Given the description of an element on the screen output the (x, y) to click on. 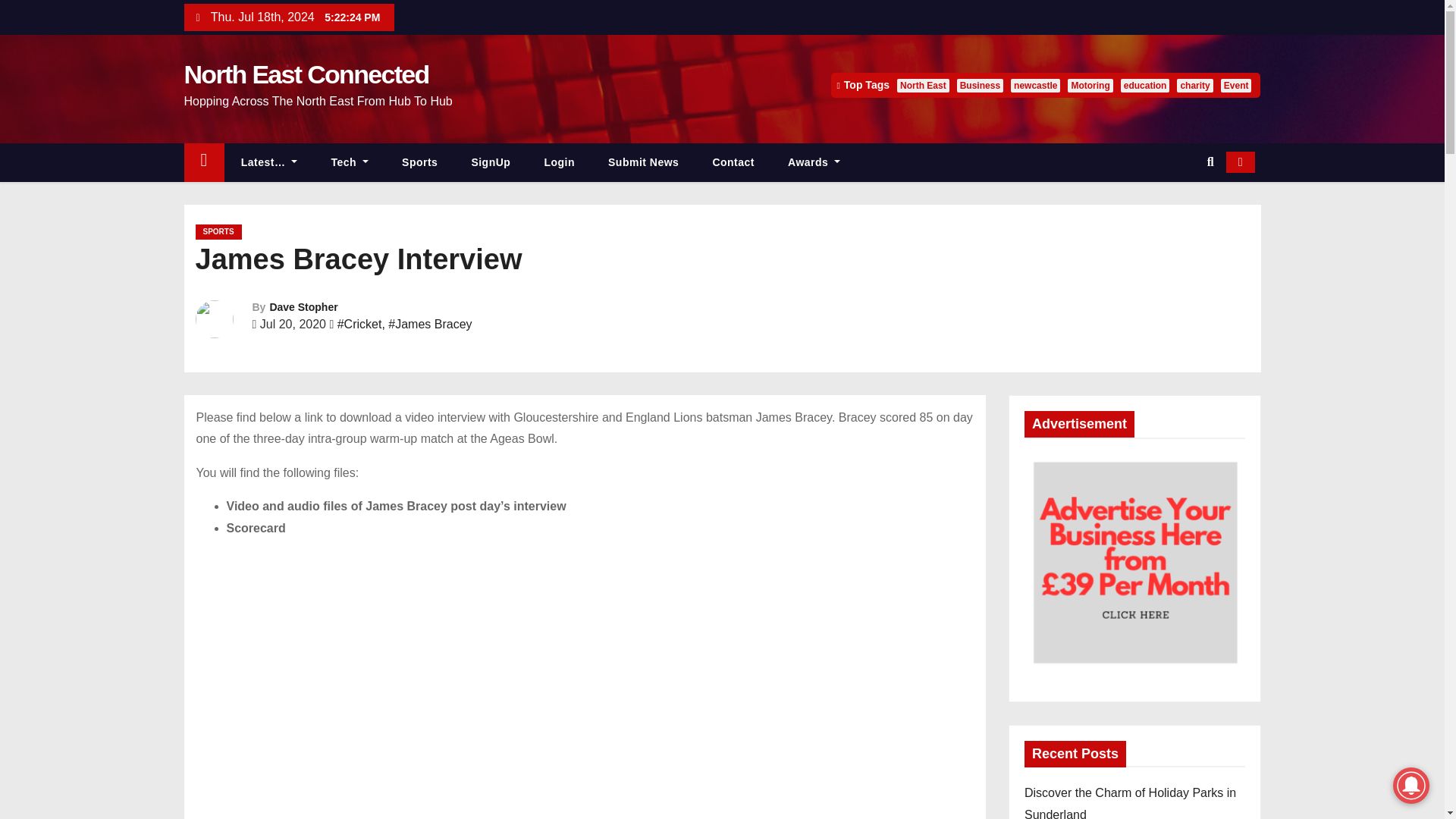
Home (203, 162)
North East Connected (305, 73)
SignUp (490, 162)
Login (559, 162)
Business (979, 85)
Dave Stopher (303, 306)
Tech (349, 162)
Contact (733, 162)
North East (922, 85)
Submit News (643, 162)
Motoring (1089, 85)
SignUp (490, 162)
Contact (733, 162)
Awards (814, 162)
charity (1194, 85)
